Given the description of an element on the screen output the (x, y) to click on. 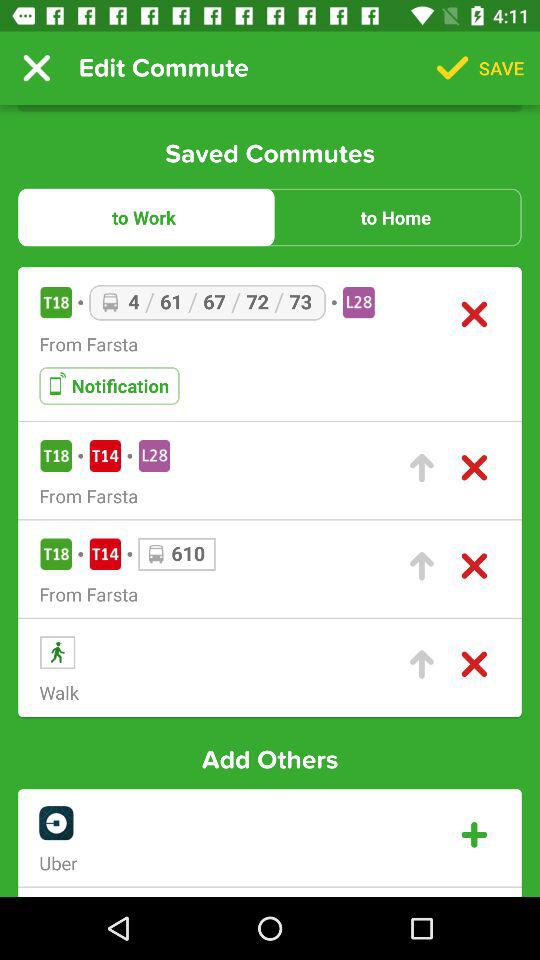
remove commute (474, 467)
